Given the description of an element on the screen output the (x, y) to click on. 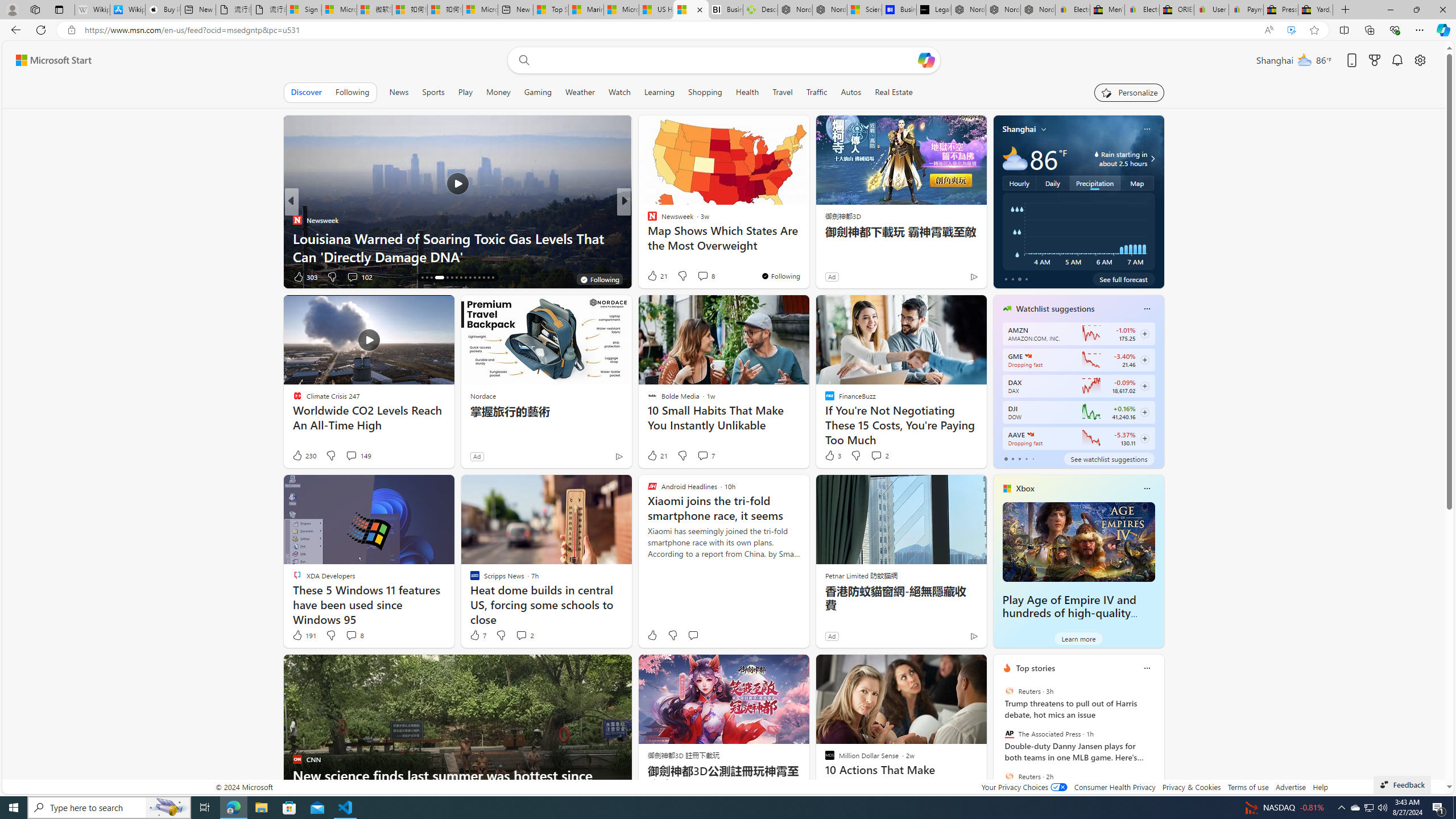
View comments 4 Comment (702, 276)
AutomationID: tab-28 (483, 277)
You're following The Weather Channel (949, 279)
water-drop-icon Rain starting in about 2.5 hours (1110, 158)
View comments 149 Comment (350, 455)
37 Like (652, 276)
